Given the description of an element on the screen output the (x, y) to click on. 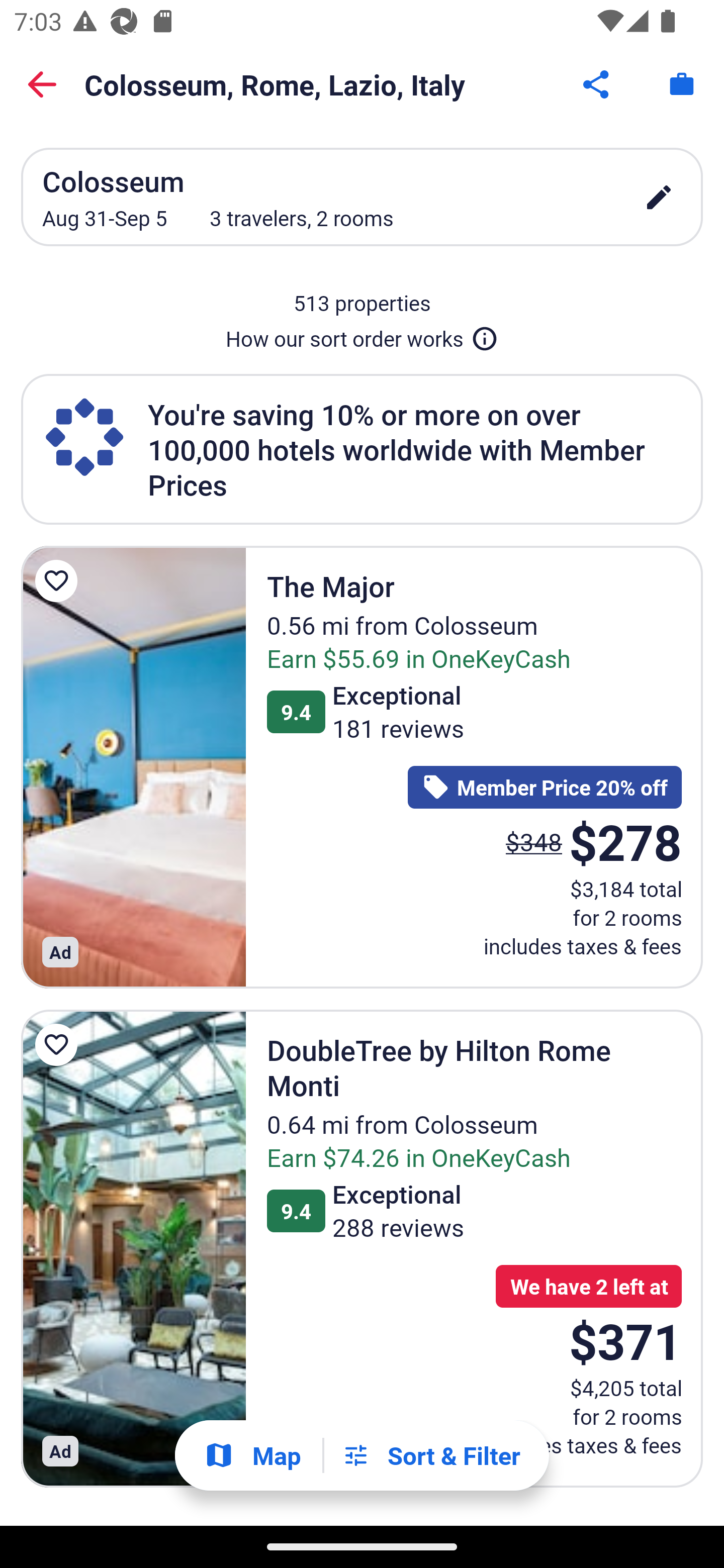
Back (42, 84)
Share Button (597, 84)
Trips. Button (681, 84)
Colosseum Aug 31-Sep 5 3 travelers, 2 rooms edit (361, 196)
How our sort order works (361, 334)
Save DoubleTree by Hilton Rome Monti to a trip (59, 1043)
DoubleTree by Hilton Rome Monti (133, 1248)
Filters Sort & Filter Filters Button (430, 1455)
Show map Map Show map Button (252, 1455)
